Given the description of an element on the screen output the (x, y) to click on. 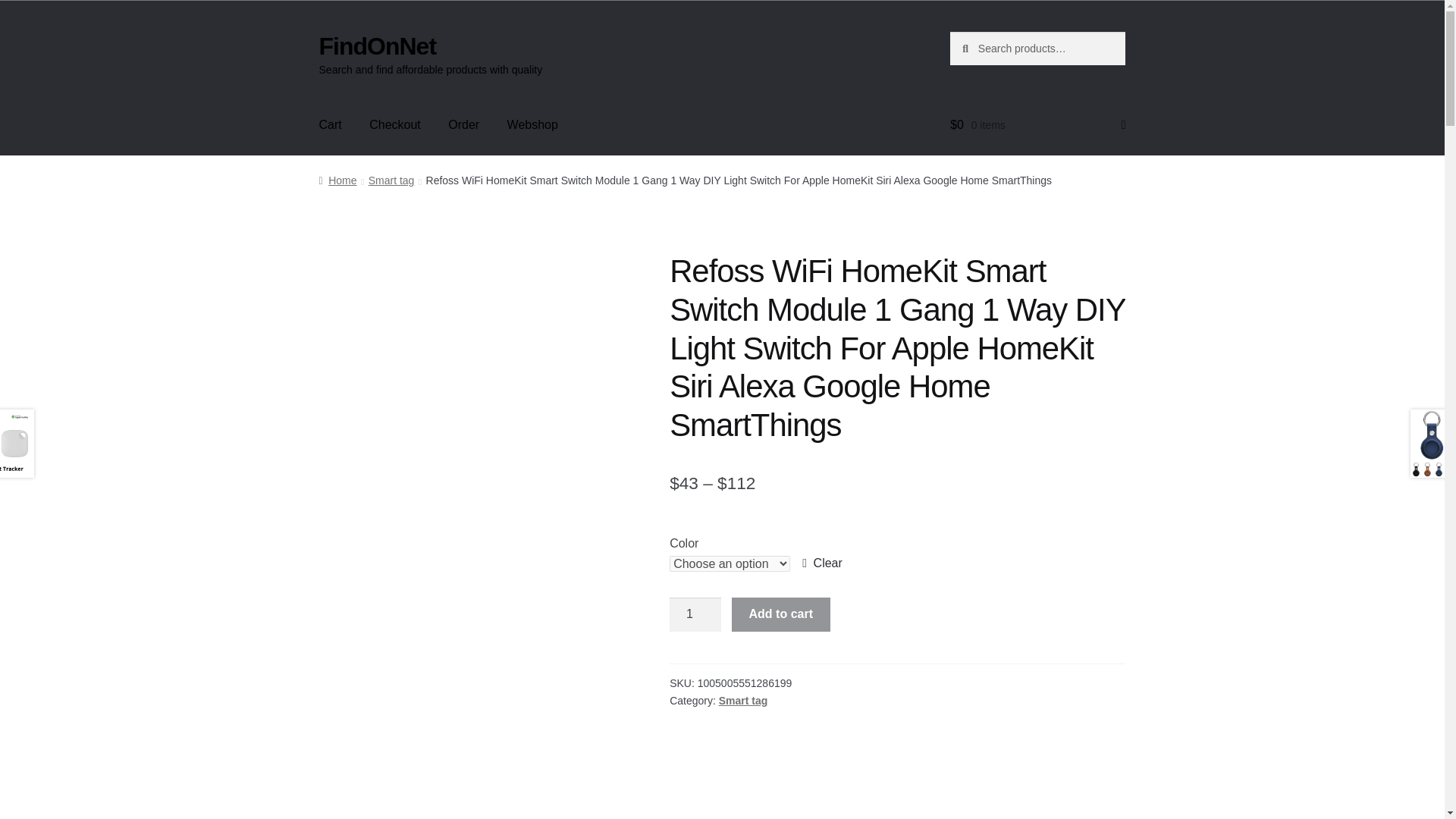
1 (694, 614)
Add to cart (780, 614)
Home (337, 180)
Smart tag (743, 700)
Checkout (394, 124)
Webshop (532, 124)
Clear (822, 563)
View your shopping cart (1037, 124)
Smart tag (391, 180)
